Given the description of an element on the screen output the (x, y) to click on. 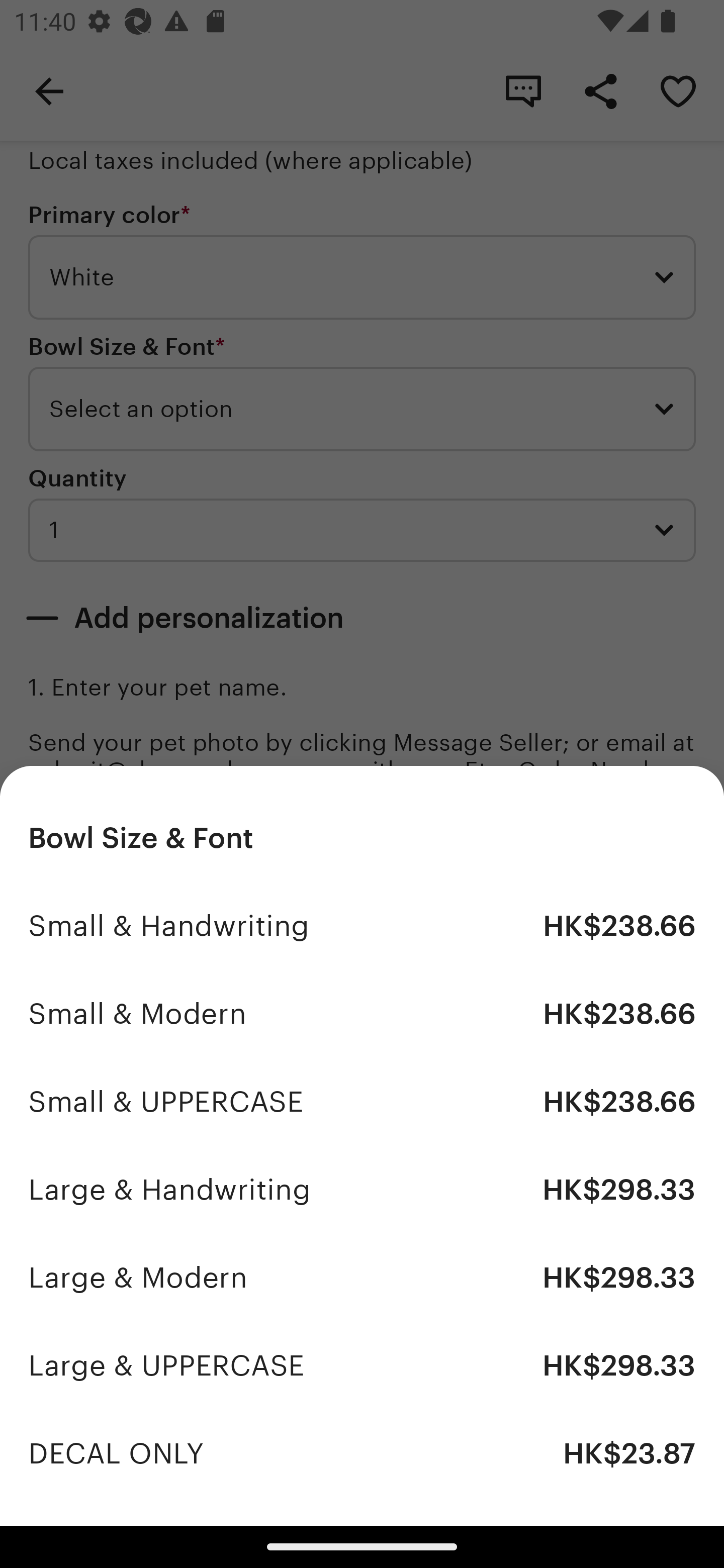
Small & Handwriting HK$238.66 (362, 925)
Small & Modern HK$238.66 (362, 1014)
Small & UPPERCASE HK$238.66 (362, 1102)
Large & Handwriting HK$298.33 (362, 1190)
Large & Modern HK$298.33 (362, 1277)
Large & UPPERCASE HK$298.33 (362, 1365)
DECAL ONLY HK$23.87 (362, 1453)
